Given the description of an element on the screen output the (x, y) to click on. 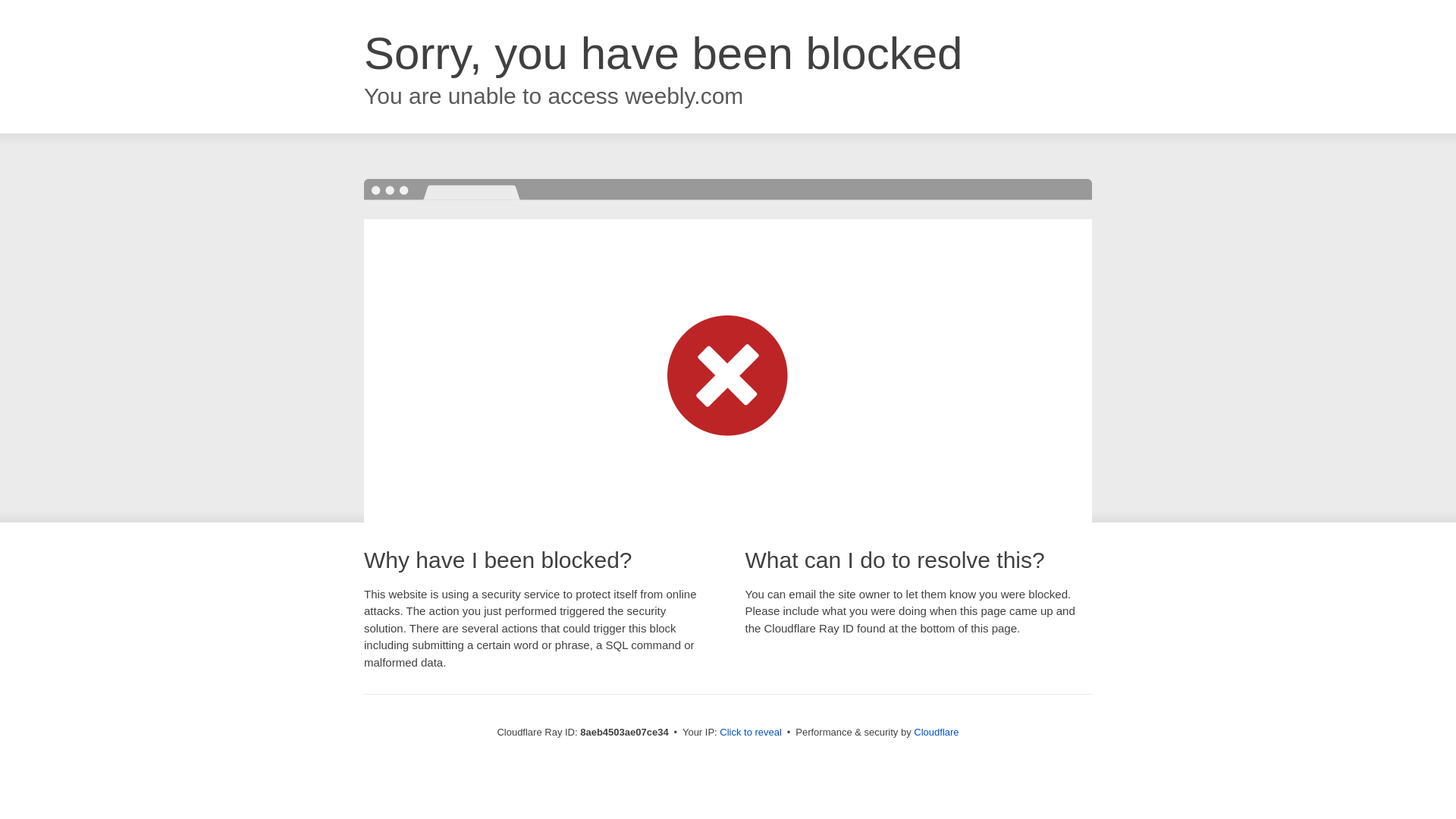
Click to reveal (750, 732)
Cloudflare (936, 731)
